Given the description of an element on the screen output the (x, y) to click on. 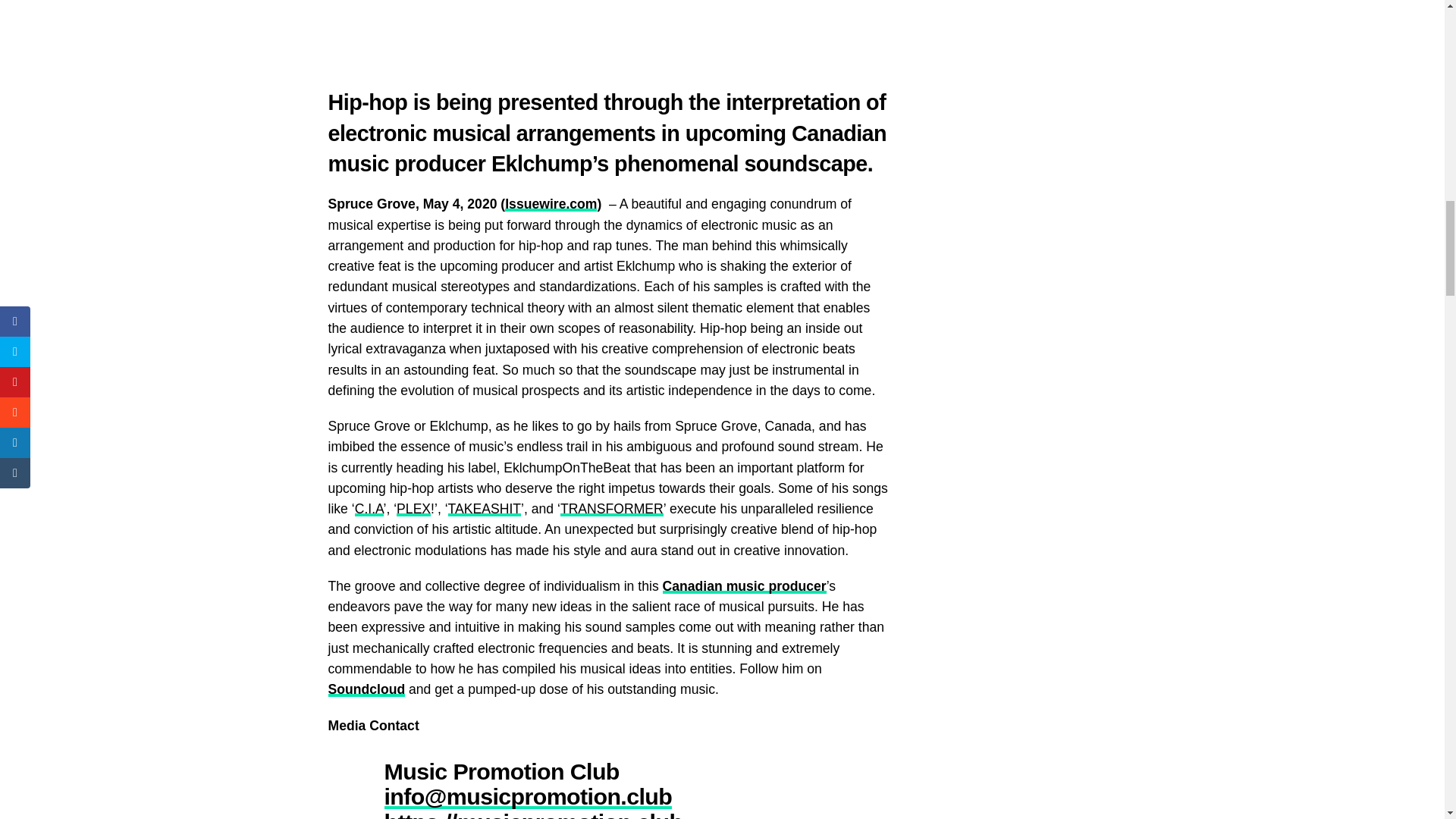
Issuewire (550, 203)
Email (527, 795)
Website (533, 814)
